Given the description of an element on the screen output the (x, y) to click on. 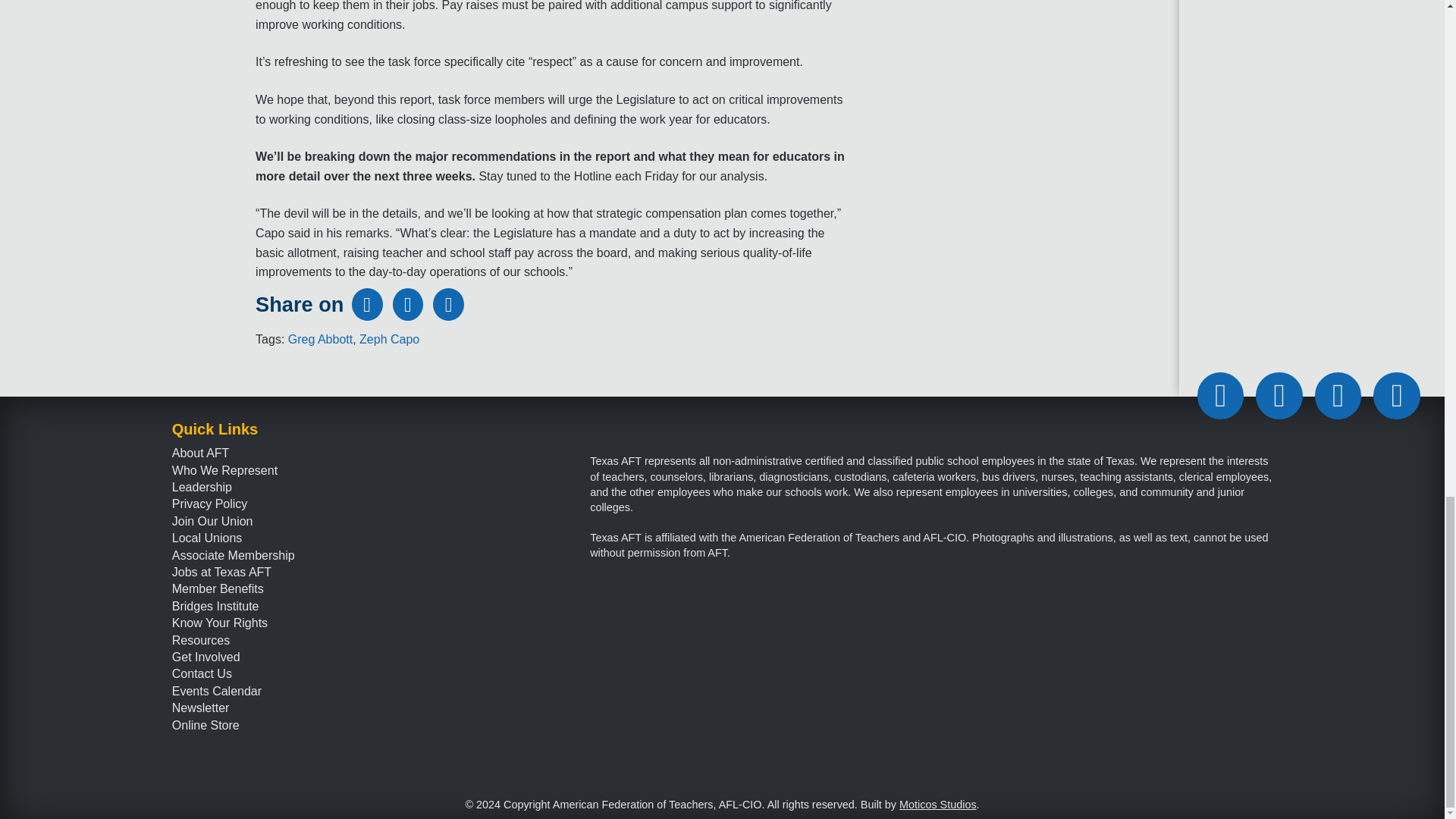
Like on Facebook (1220, 395)
Follow on Instagram (1397, 395)
Watch on YouTube (1337, 395)
Follow on Twitter (1279, 395)
